Given the description of an element on the screen output the (x, y) to click on. 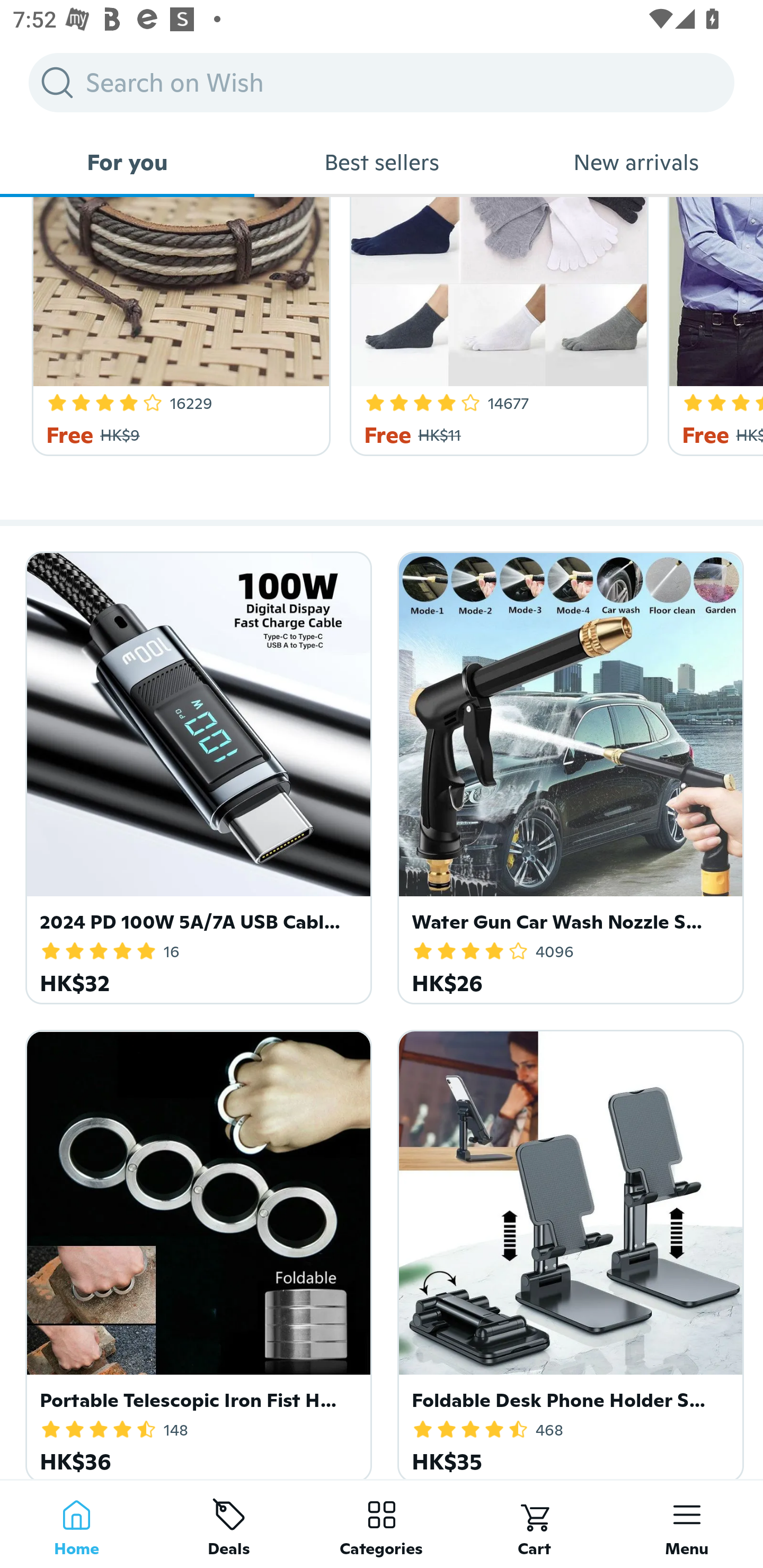
Search on Wish (381, 82)
For you (127, 161)
Best sellers (381, 161)
New arrivals (635, 161)
3.8 Star Rating 16229 Free HK$9 (177, 326)
4.2 Star Rating 14677 Free HK$11 (495, 326)
Home (76, 1523)
Deals (228, 1523)
Categories (381, 1523)
Cart (533, 1523)
Menu (686, 1523)
